Given the description of an element on the screen output the (x, y) to click on. 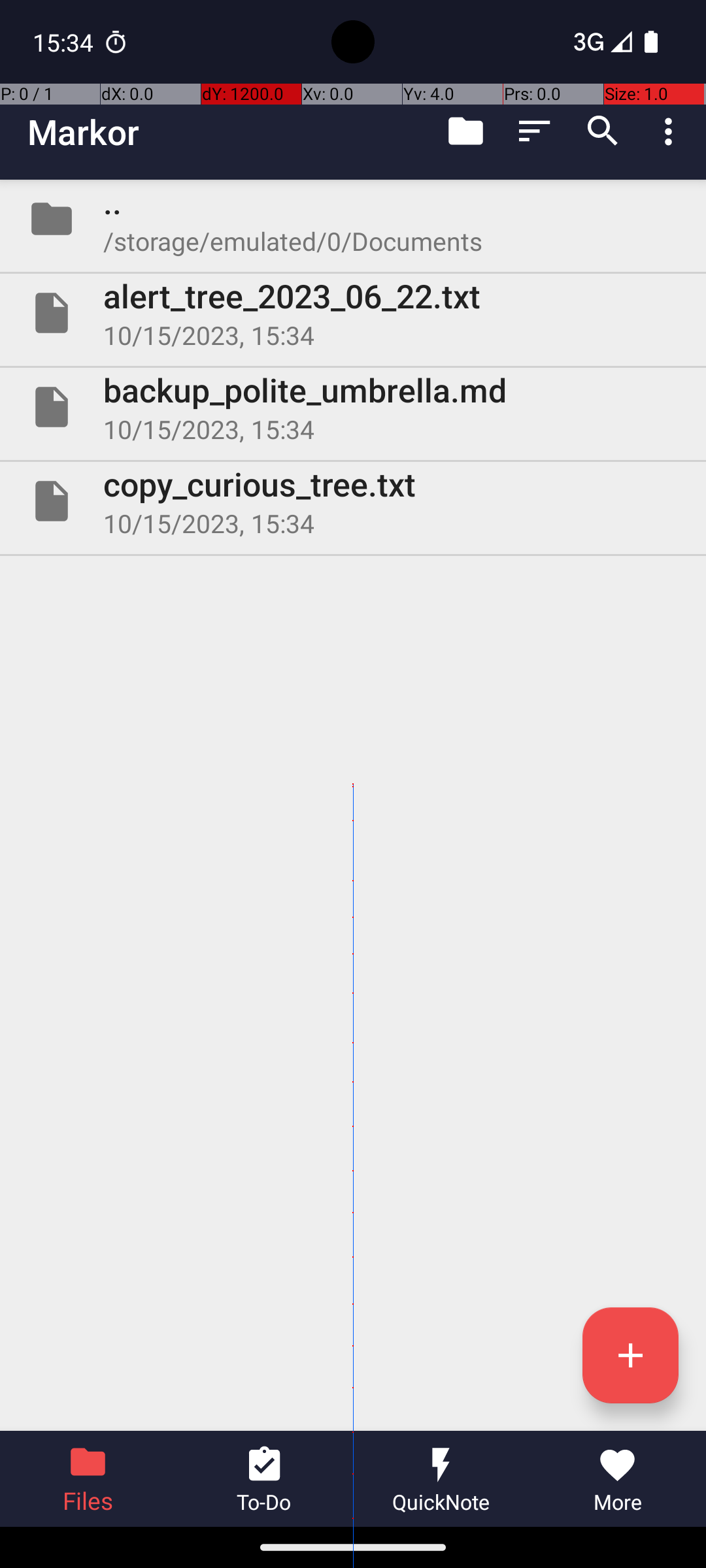
File alert_tree_2023_06_22.txt  Element type: android.widget.LinearLayout (353, 312)
File backup_polite_umbrella.md  Element type: android.widget.LinearLayout (353, 406)
File copy_curious_tree.txt  Element type: android.widget.LinearLayout (353, 500)
